Given the description of an element on the screen output the (x, y) to click on. 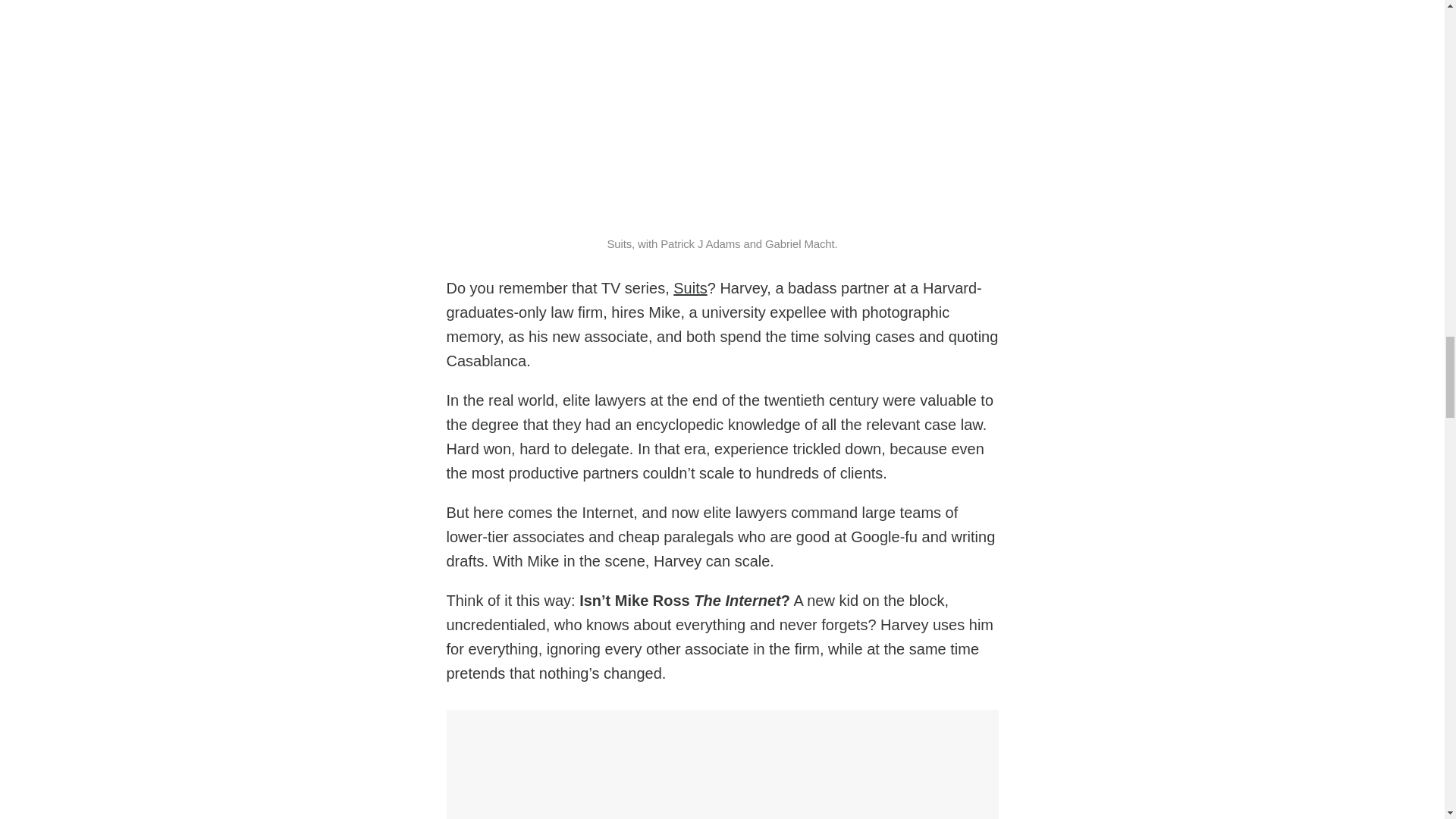
Suits (689, 288)
